Given the description of an element on the screen output the (x, y) to click on. 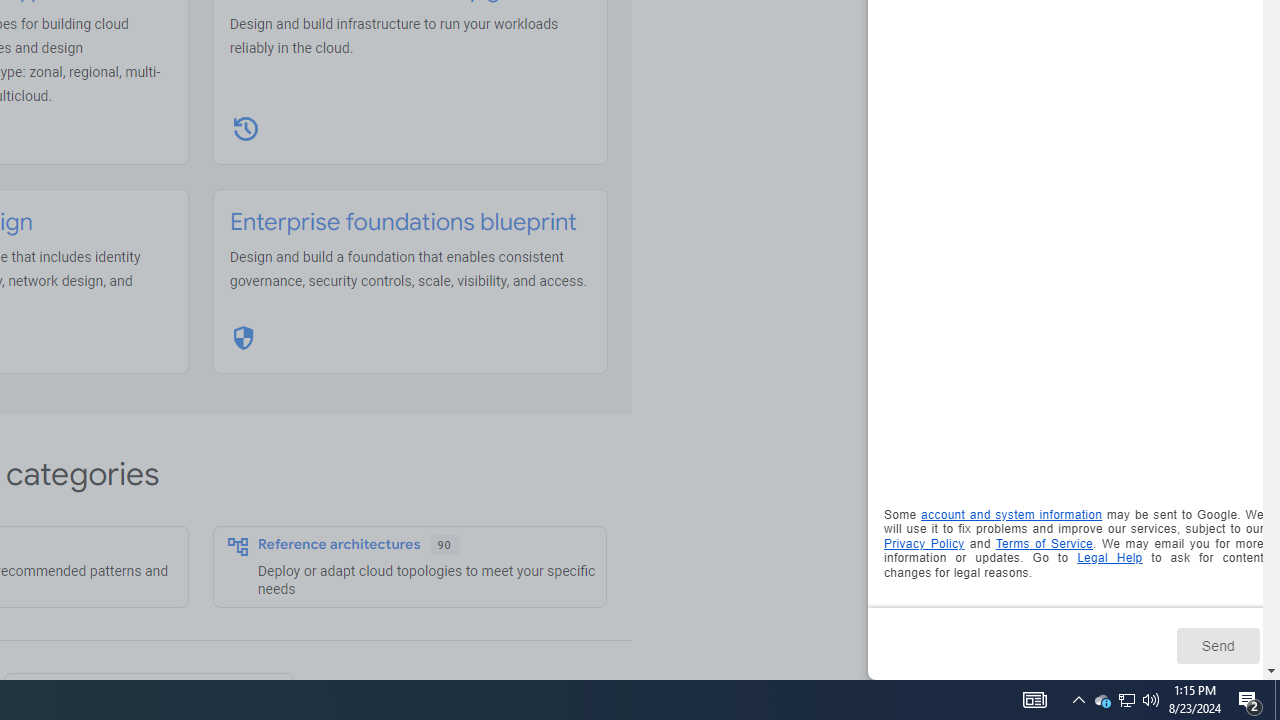
Enterprise foundations blueprint (403, 221)
Send (1217, 645)
Opens in a new tab. Privacy Policy (924, 542)
Opens in a new tab. Terms of Service (1044, 542)
Opens in a new tab. Legal Help (1109, 557)
account and system information (1012, 515)
